Given the description of an element on the screen output the (x, y) to click on. 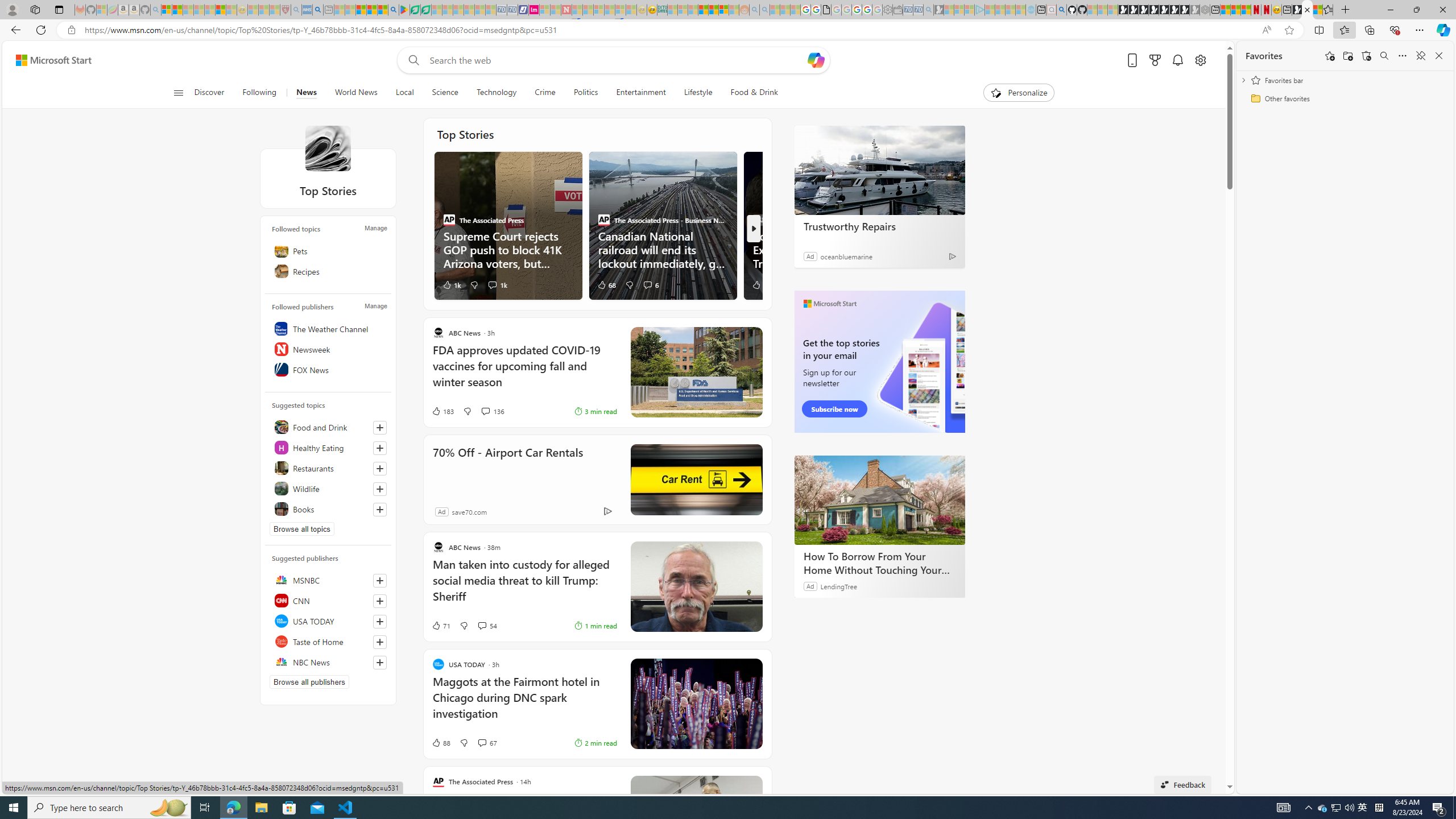
183 Like (442, 410)
Restore deleted favorites (1366, 55)
225 Like (762, 284)
